Given the description of an element on the screen output the (x, y) to click on. 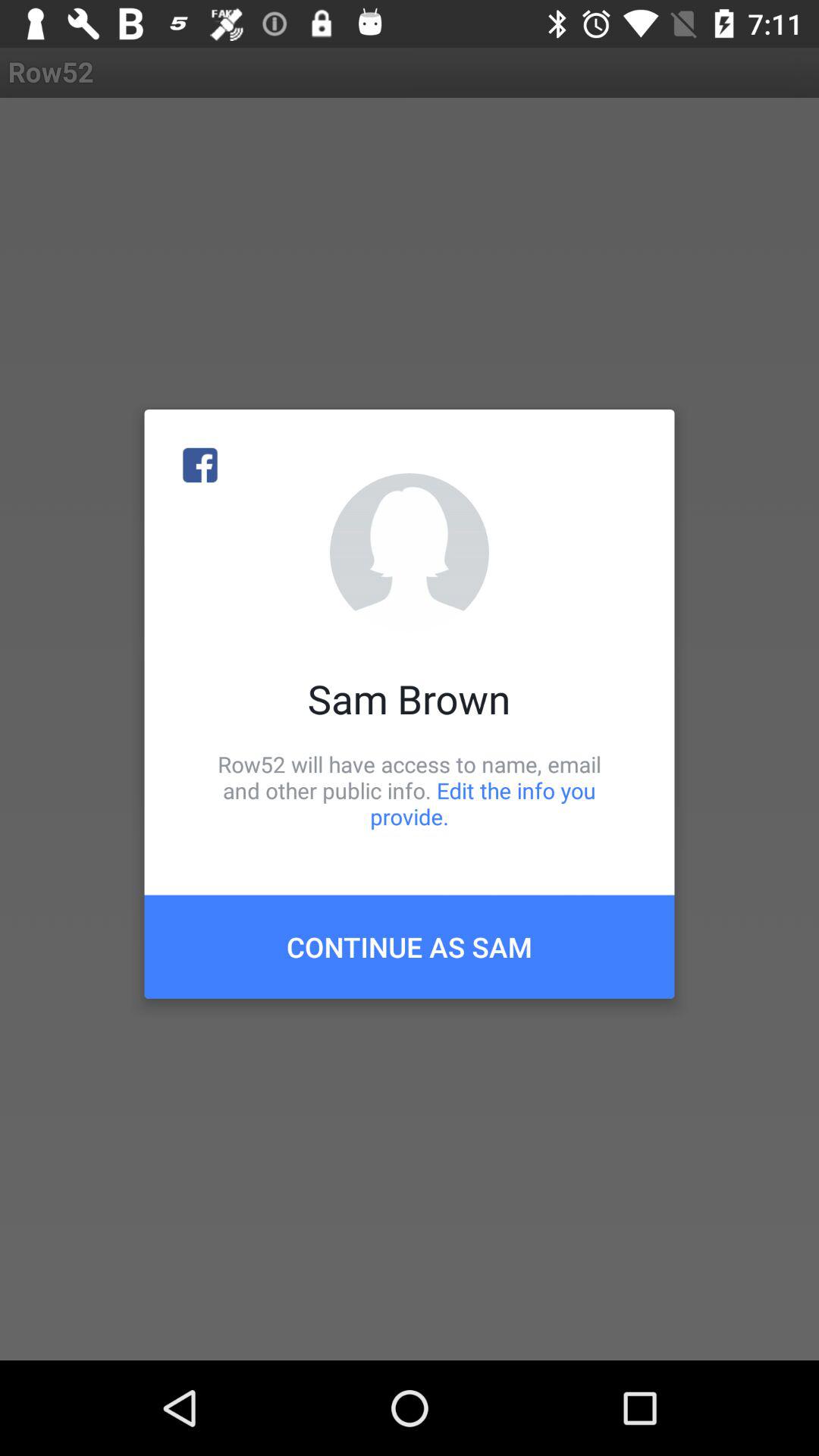
choose icon above the continue as sam (409, 790)
